Given the description of an element on the screen output the (x, y) to click on. 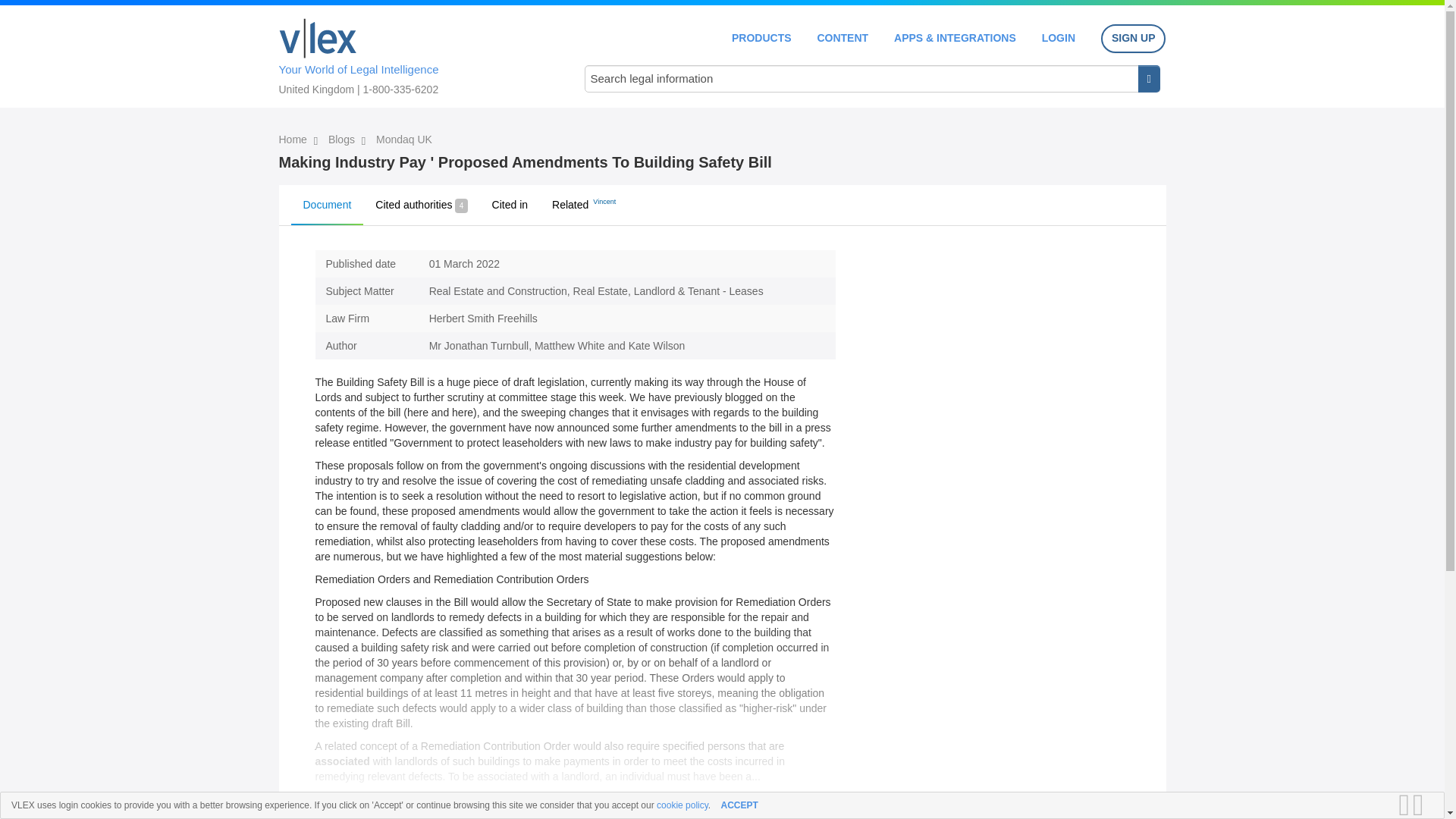
Mondaq UK (403, 139)
cookie policy (681, 805)
Blogs (343, 139)
Home (294, 139)
PRODUCTS (762, 37)
CLOSE (1422, 805)
Home (317, 38)
CONTENT (841, 37)
Your World of Legal Intelligence (416, 53)
SIGN UP (1133, 38)
